Given the description of an element on the screen output the (x, y) to click on. 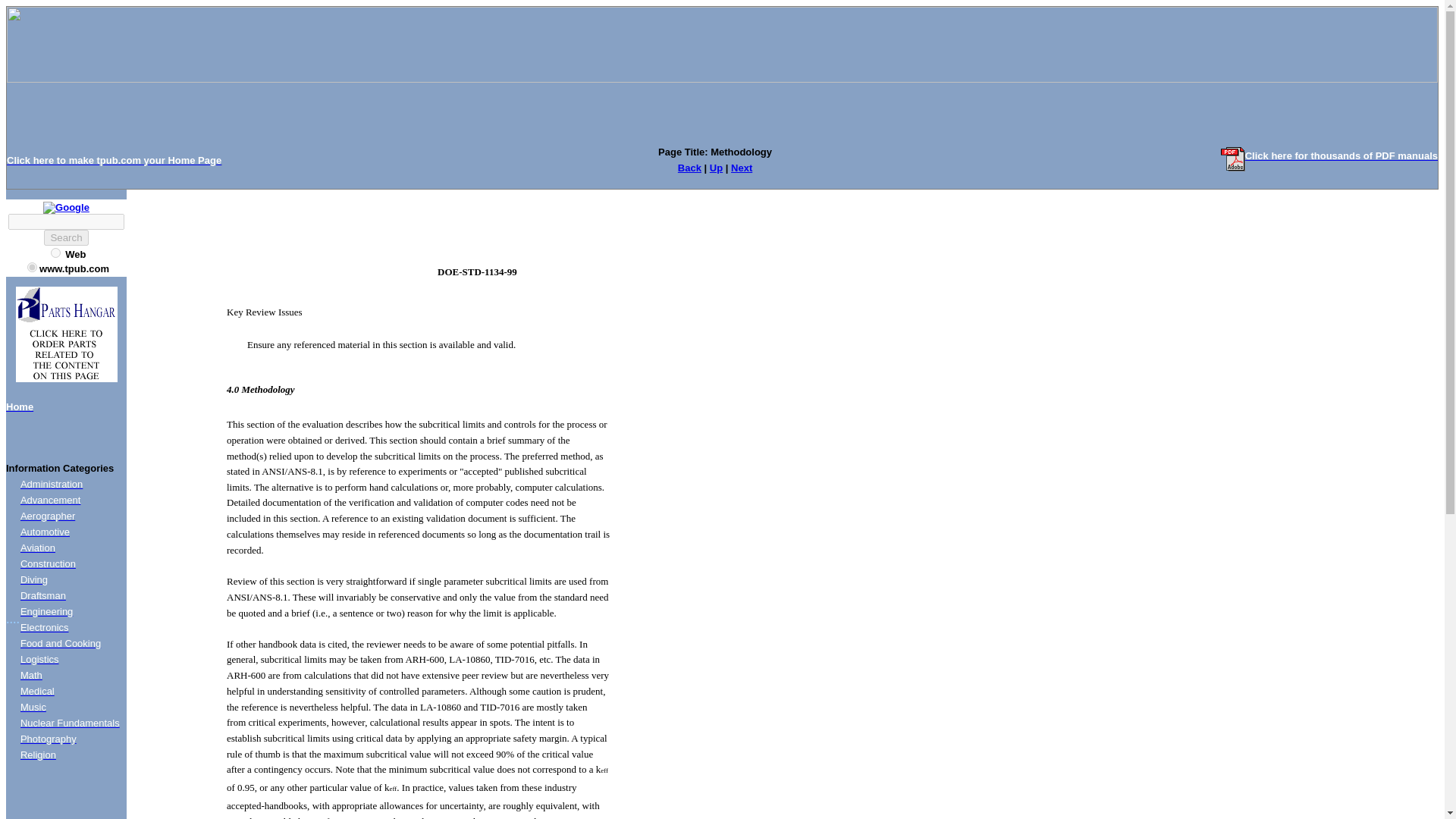
Home (19, 406)
Nuclear Fundamentals (69, 722)
Diving (34, 579)
Engineering (46, 611)
Automotive (44, 531)
Back (689, 167)
Advancement (50, 500)
Photography (48, 738)
Next (741, 167)
www.tpub.com (32, 266)
Music (33, 706)
Electronics (44, 627)
Logistics (39, 659)
Aerographer (47, 515)
Search (65, 237)
